Given the description of an element on the screen output the (x, y) to click on. 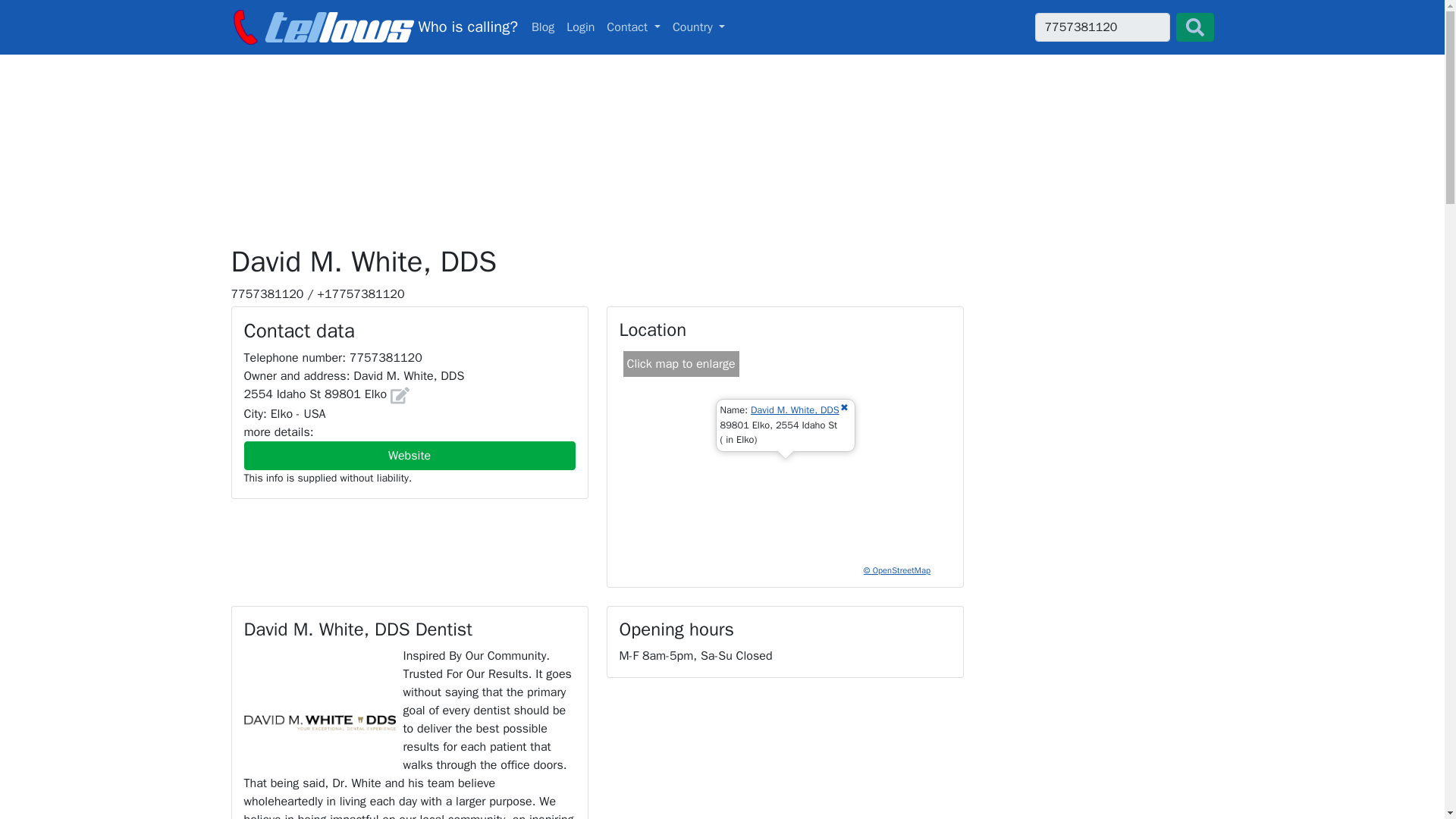
Contact (632, 27)
Country (699, 27)
Login (579, 27)
David M. White, DDS (795, 410)
Who is calling? (373, 26)
Blog (542, 27)
Blog (542, 27)
7757381120 (1101, 27)
Website (722, 26)
